Given the description of an element on the screen output the (x, y) to click on. 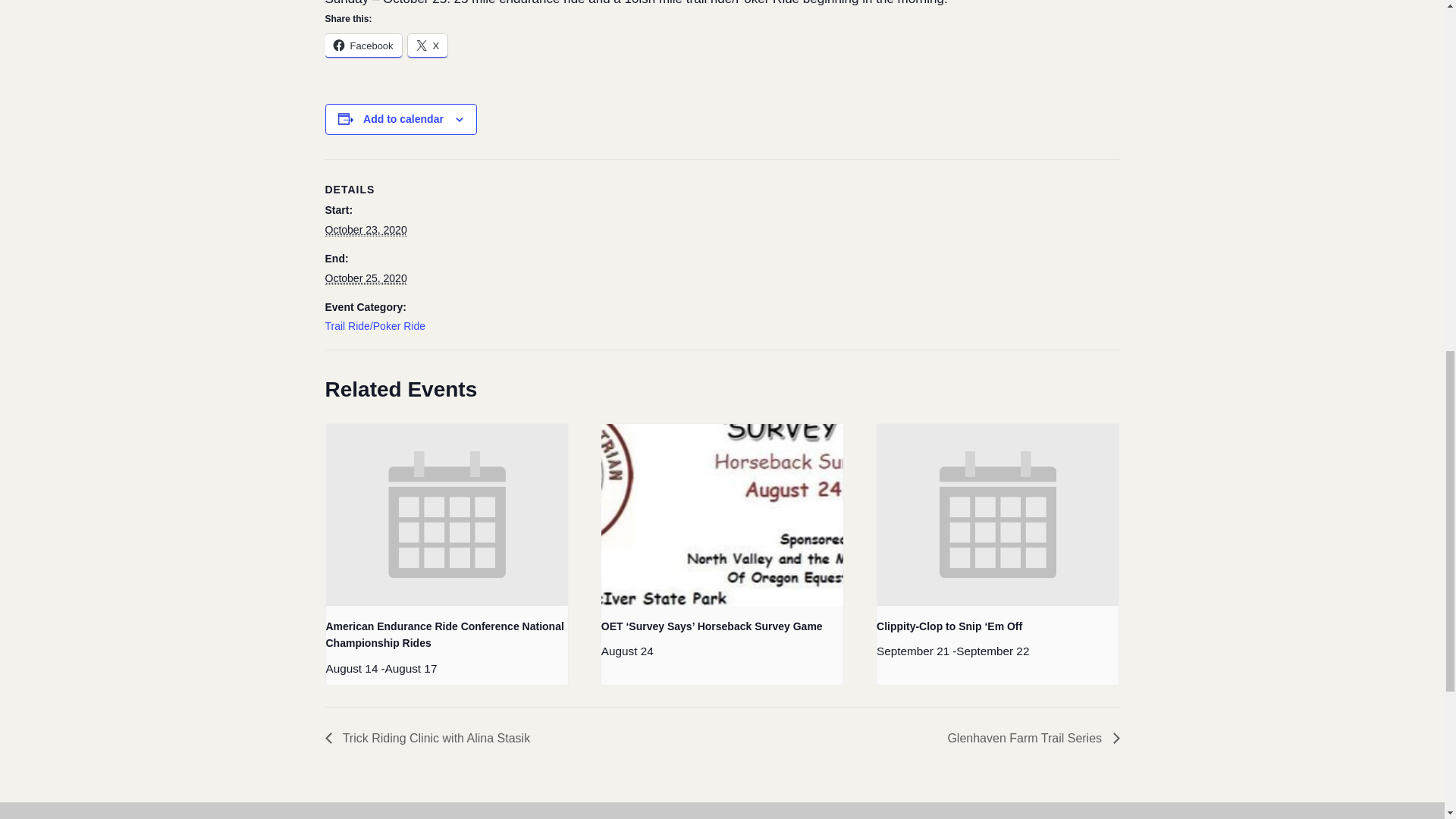
Click to share on X (427, 45)
Click to share on Facebook (362, 45)
Scroll back to top (1406, 720)
2020-10-25 (365, 278)
2020-10-23 (365, 229)
